Given the description of an element on the screen output the (x, y) to click on. 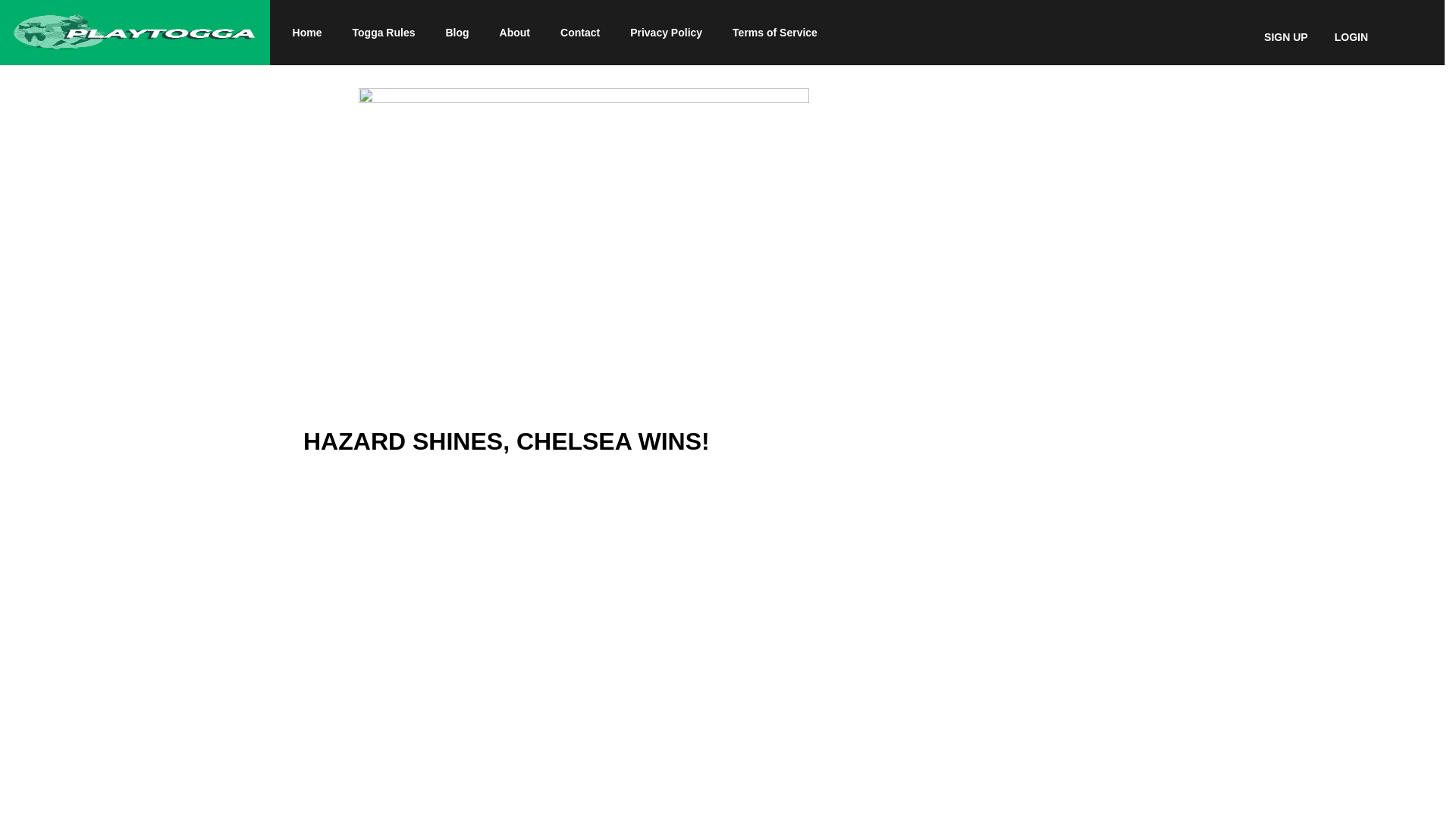
Contact (579, 32)
LOGIN (1351, 37)
Privacy Policy (665, 32)
Togga Rules (383, 32)
SIGN UP (1285, 37)
About (514, 32)
Home (307, 32)
Terms of Service (774, 32)
Blog (456, 32)
